Given the description of an element on the screen output the (x, y) to click on. 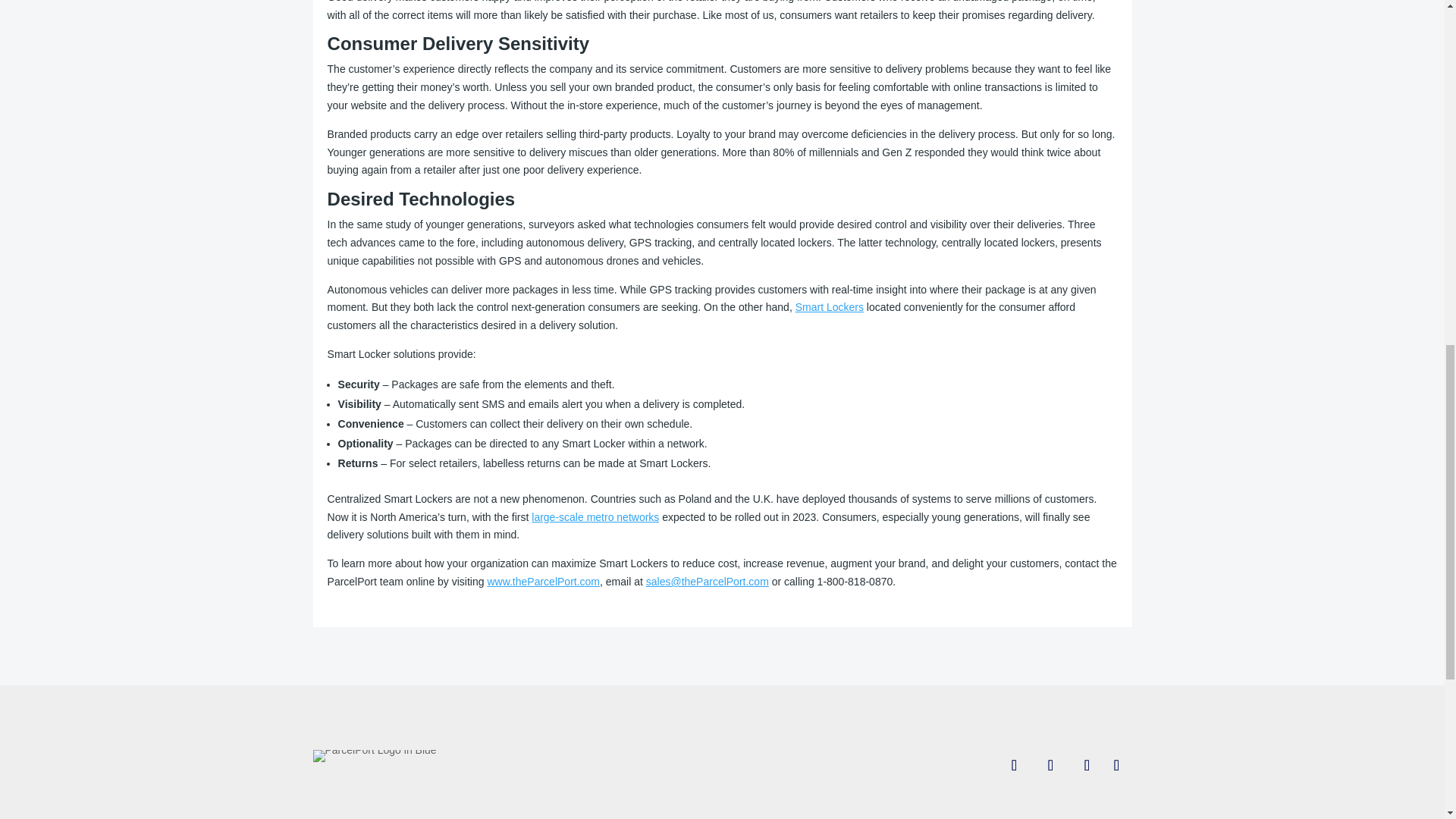
Follow on X (1050, 765)
Follow on LinkedIn (1115, 765)
www.theParcelPort.com (542, 581)
Smart Lockers (828, 306)
Follow on Instagram (1086, 765)
large-scale metro networks (595, 517)
Follow on Facebook (1013, 765)
